Given the description of an element on the screen output the (x, y) to click on. 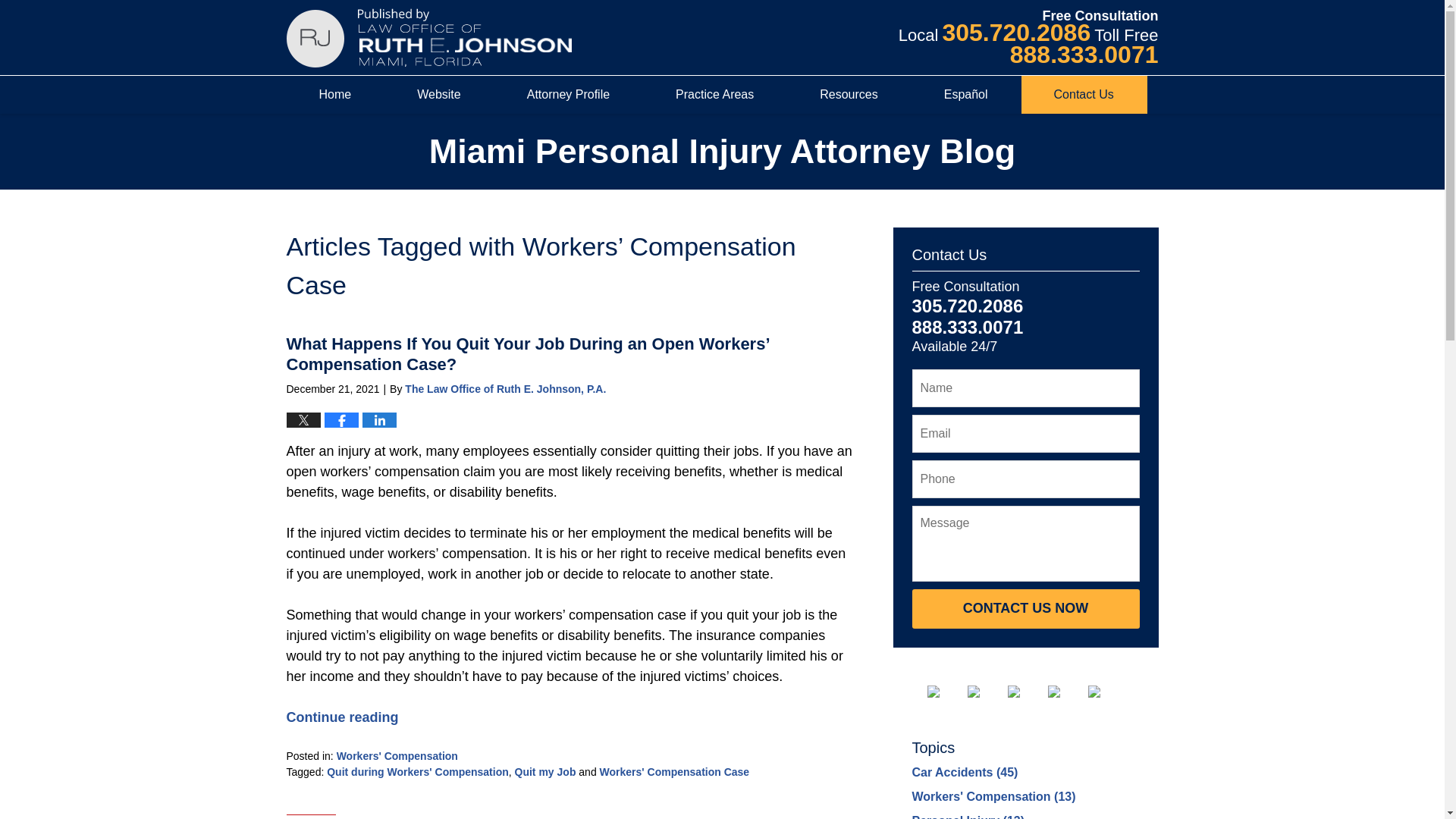
Website (439, 94)
Please enter a valid phone number. (1024, 478)
View all posts tagged with Workers' Compensation Case (674, 771)
Justia (1066, 691)
The Law Office of Ruth E. Johnson, P.A. (504, 388)
Home (335, 94)
Continue reading (342, 717)
Quit my Job (545, 771)
LinkedIn (1025, 37)
